Given the description of an element on the screen output the (x, y) to click on. 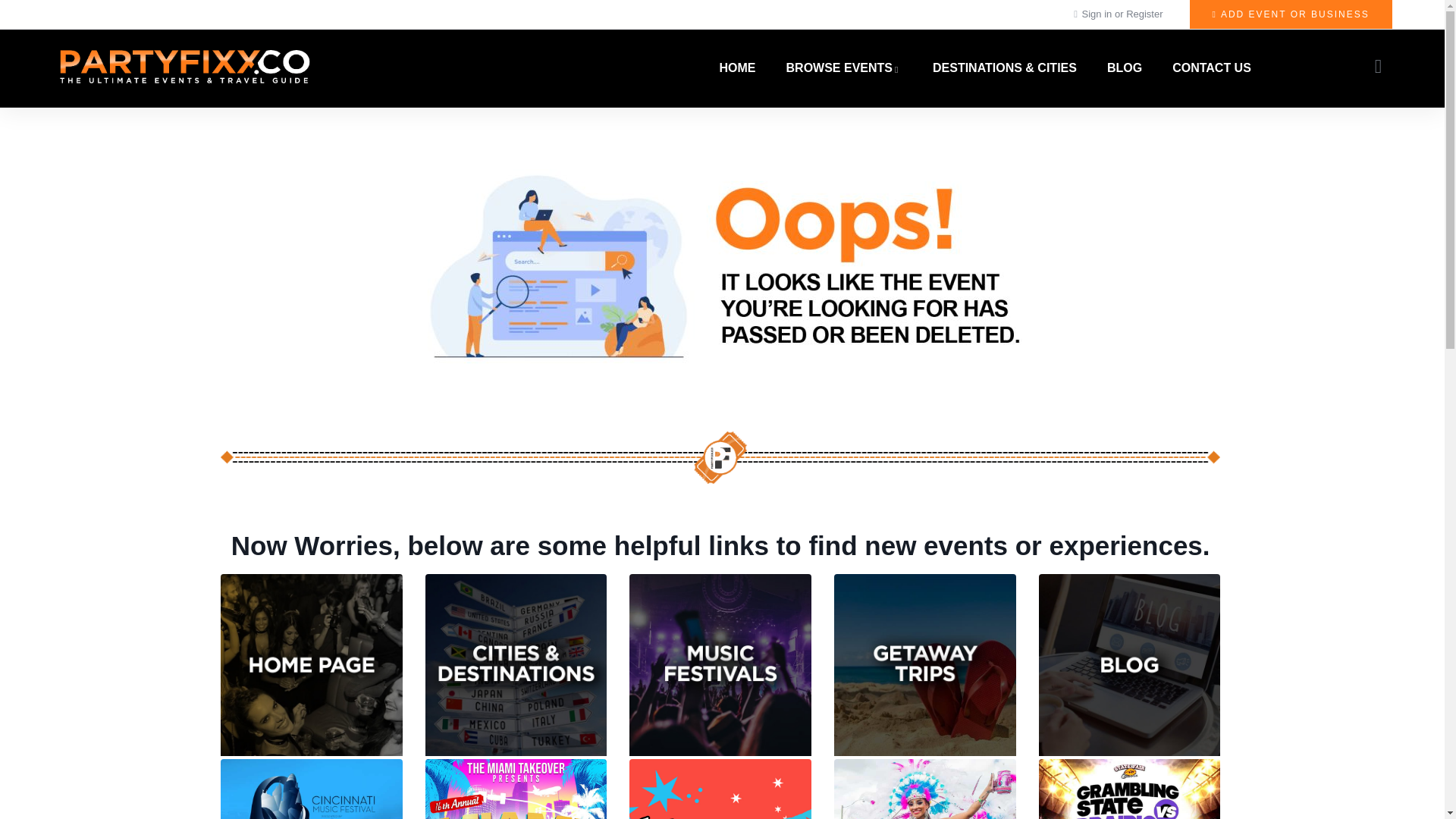
HOME (737, 68)
BROWSE EVENTS (844, 68)
Register (1143, 13)
Divider-The-Party-Fixx-Company.png (720, 458)
Sign in (1098, 13)
ADD EVENT OR BUSINESS (1290, 14)
Home (184, 67)
